Given the description of an element on the screen output the (x, y) to click on. 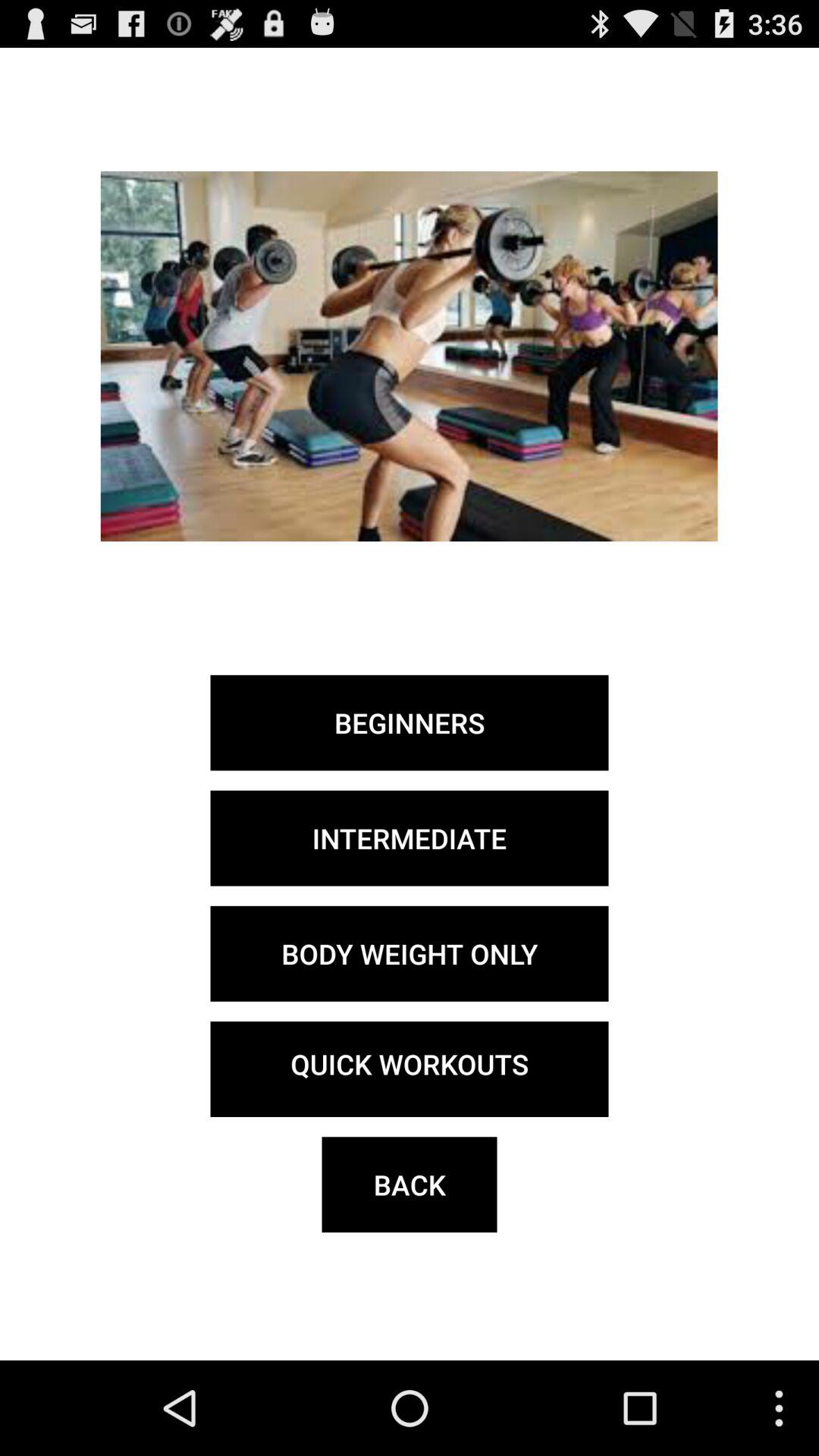
press the item below intermediate (409, 953)
